Given the description of an element on the screen output the (x, y) to click on. 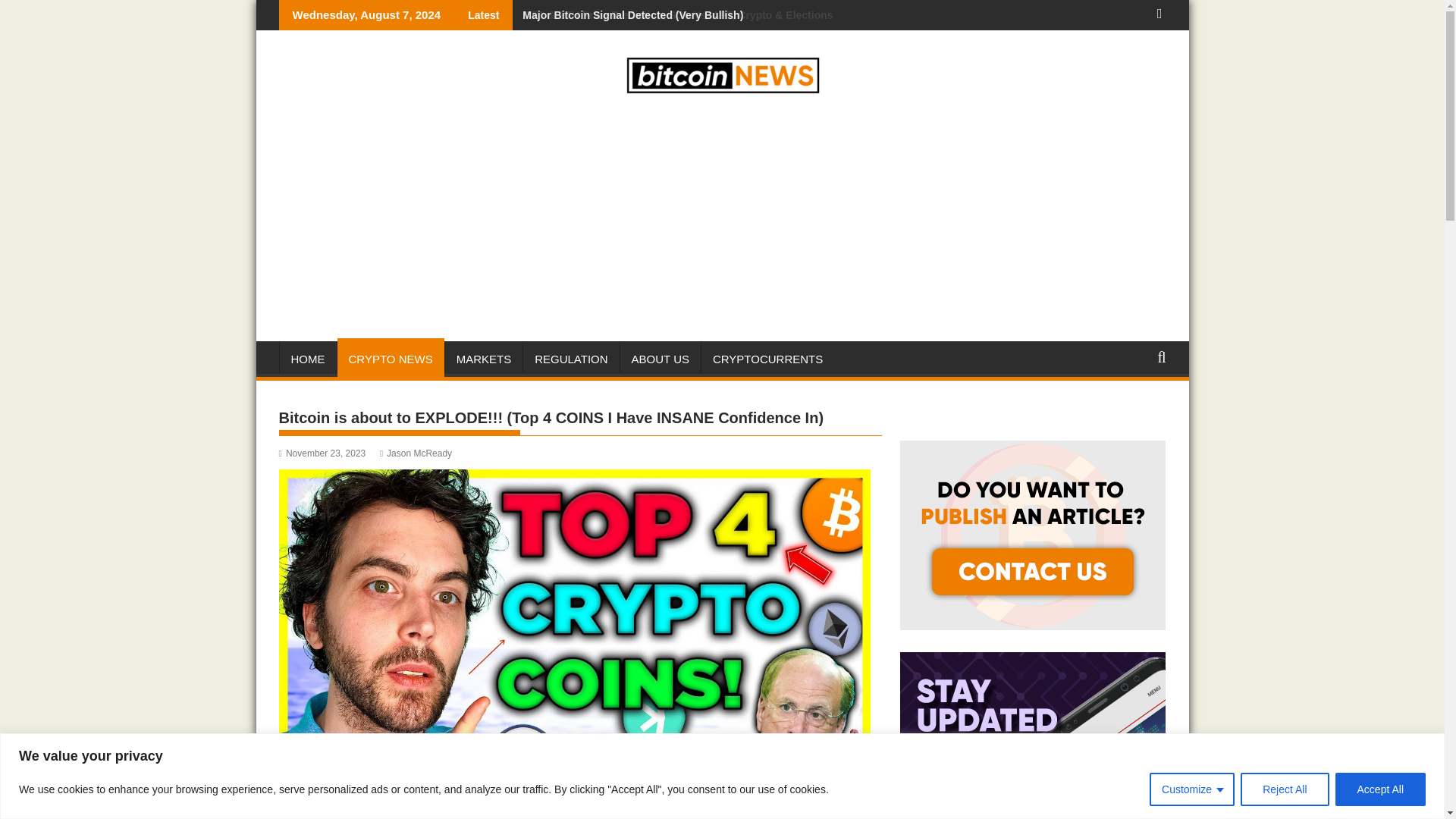
Jason McReady (415, 452)
CRYPTOCURRENTS (767, 359)
November 23, 2023 (322, 452)
Customize (1192, 788)
MARKETS (483, 359)
Accept All (1380, 788)
REGULATION (570, 359)
CRYPTO NEWS (390, 359)
Reject All (1283, 788)
